Given the description of an element on the screen output the (x, y) to click on. 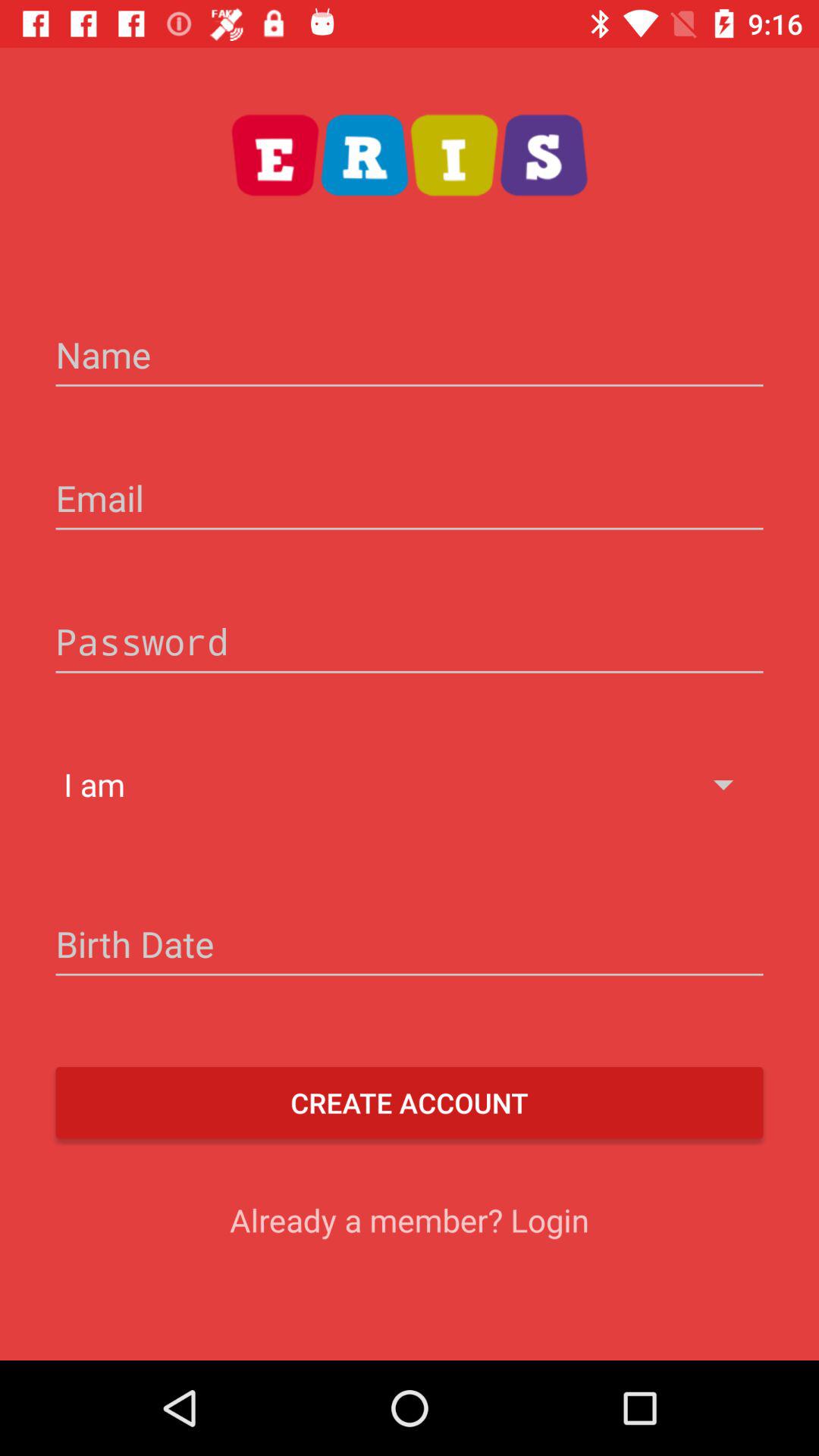
turn off icon below the create account icon (409, 1219)
